Given the description of an element on the screen output the (x, y) to click on. 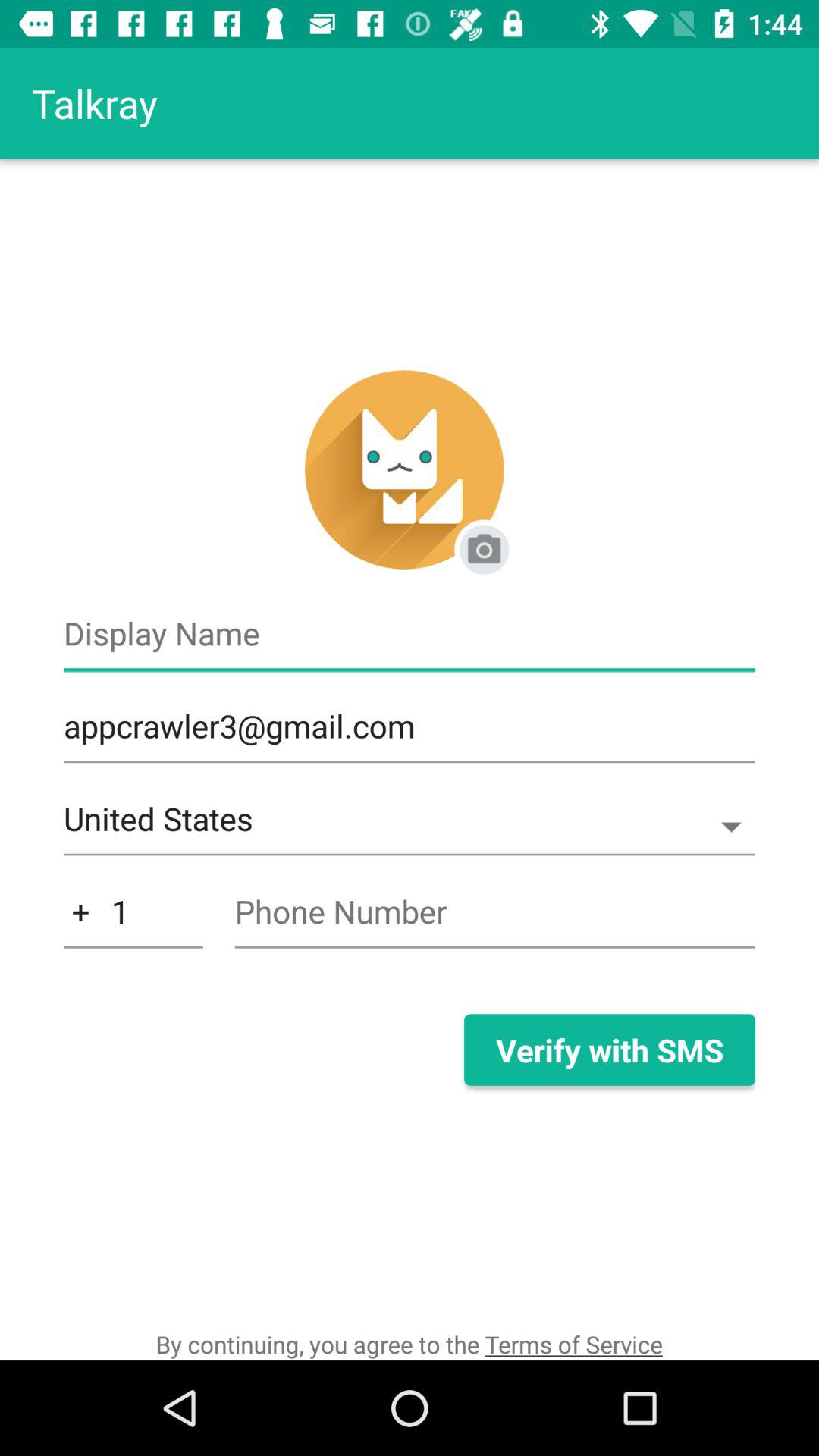
turn off item above the by continuing you item (609, 1049)
